Given the description of an element on the screen output the (x, y) to click on. 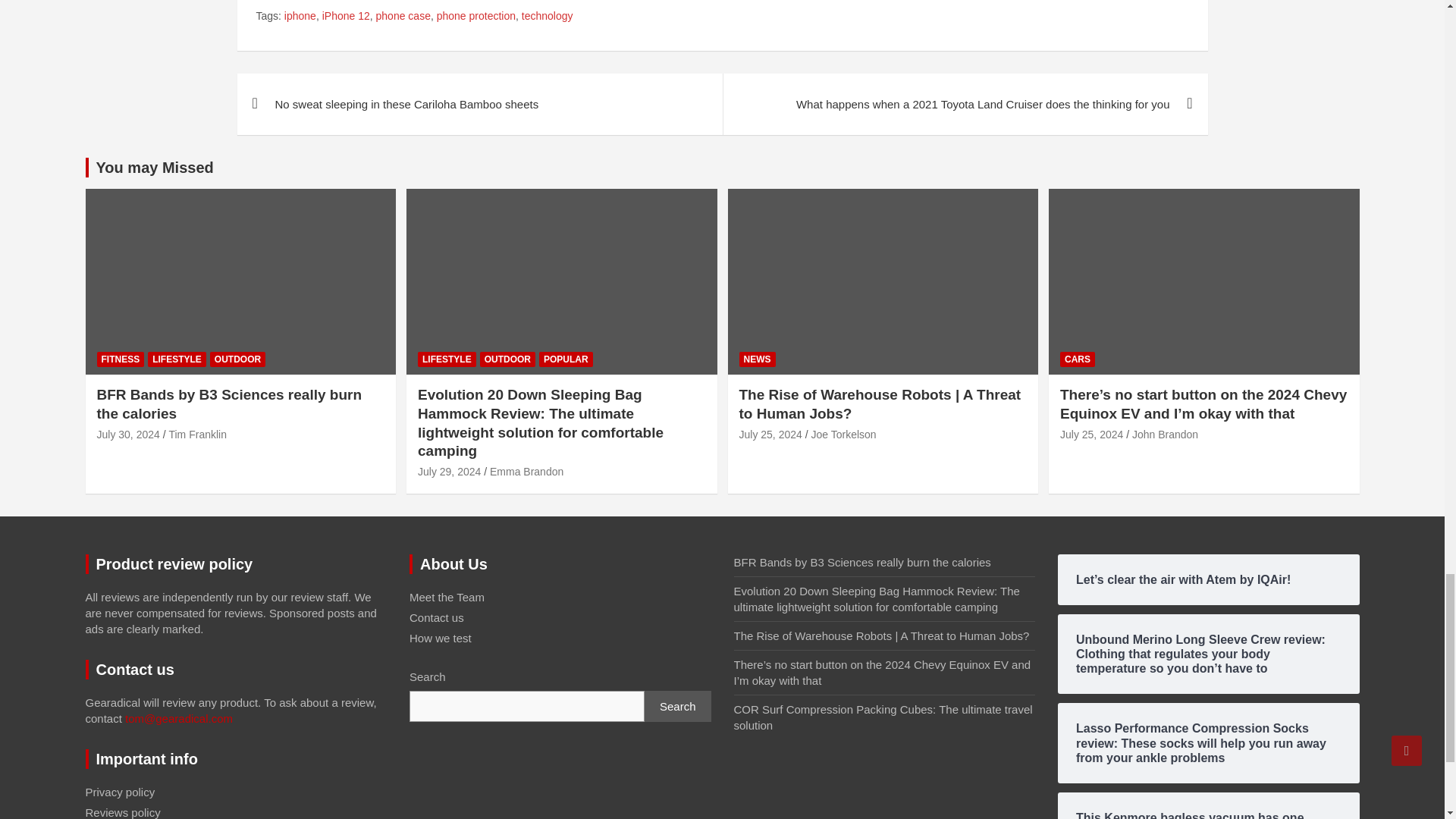
iphone (299, 16)
BFR Bands by B3 Sciences really burn the calories (128, 434)
